Given the description of an element on the screen output the (x, y) to click on. 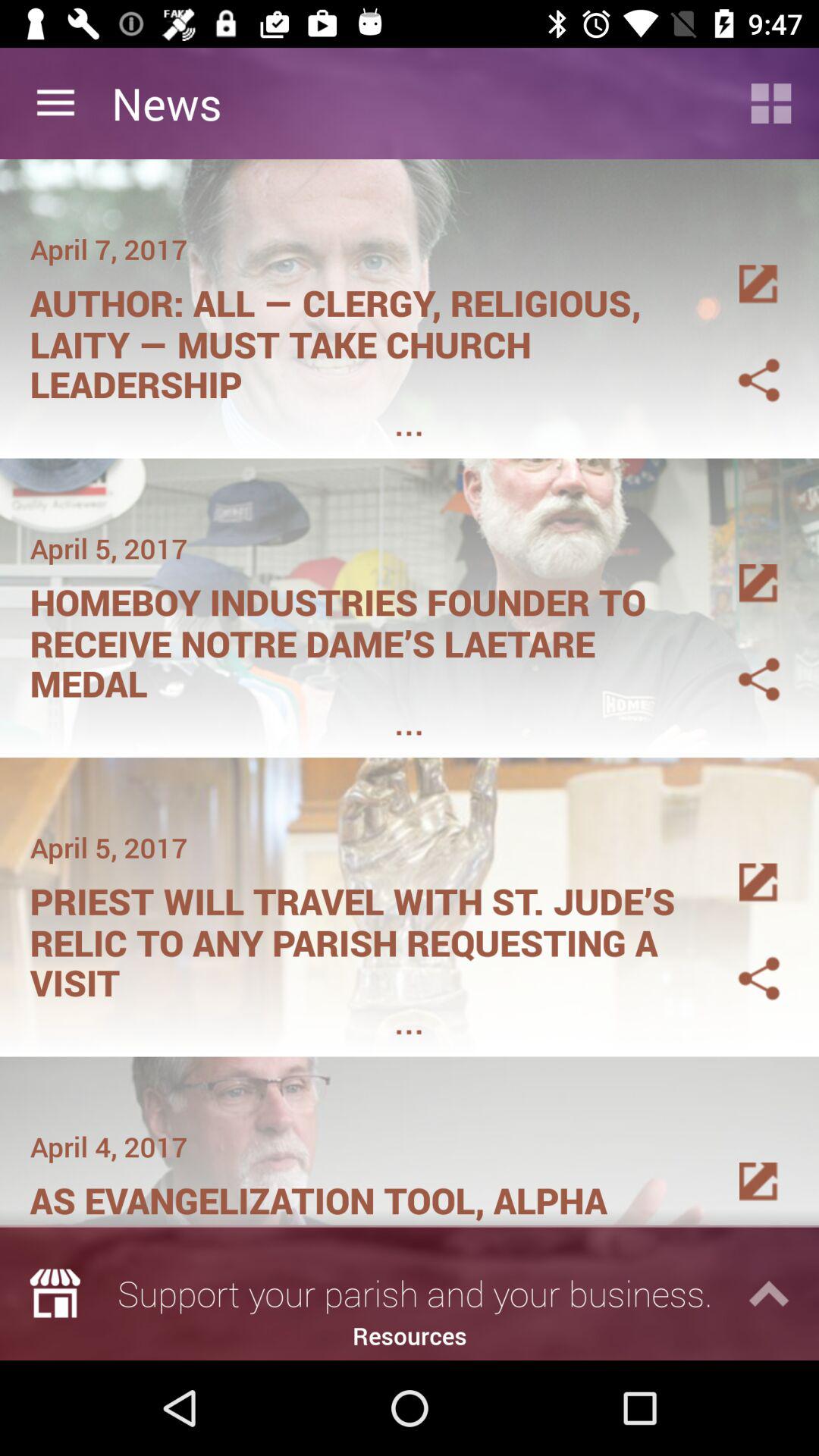
sahre to (740, 960)
